Given the description of an element on the screen output the (x, y) to click on. 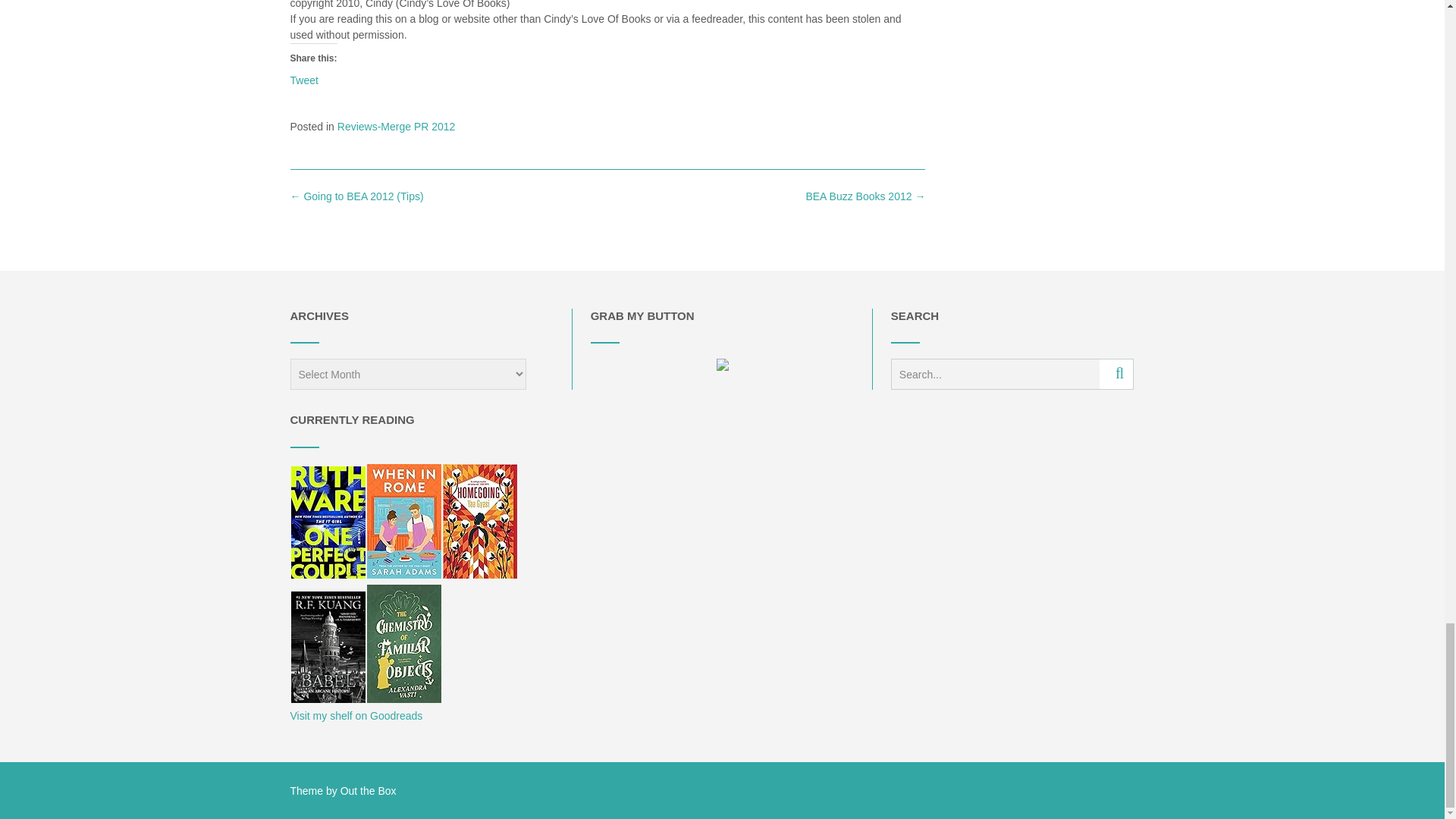
Reviews-Merge PR 2012 (396, 126)
Tweet (303, 79)
Search for: (995, 373)
Visit my shelf on Goodreads (355, 715)
Out the Box (368, 790)
